Given the description of an element on the screen output the (x, y) to click on. 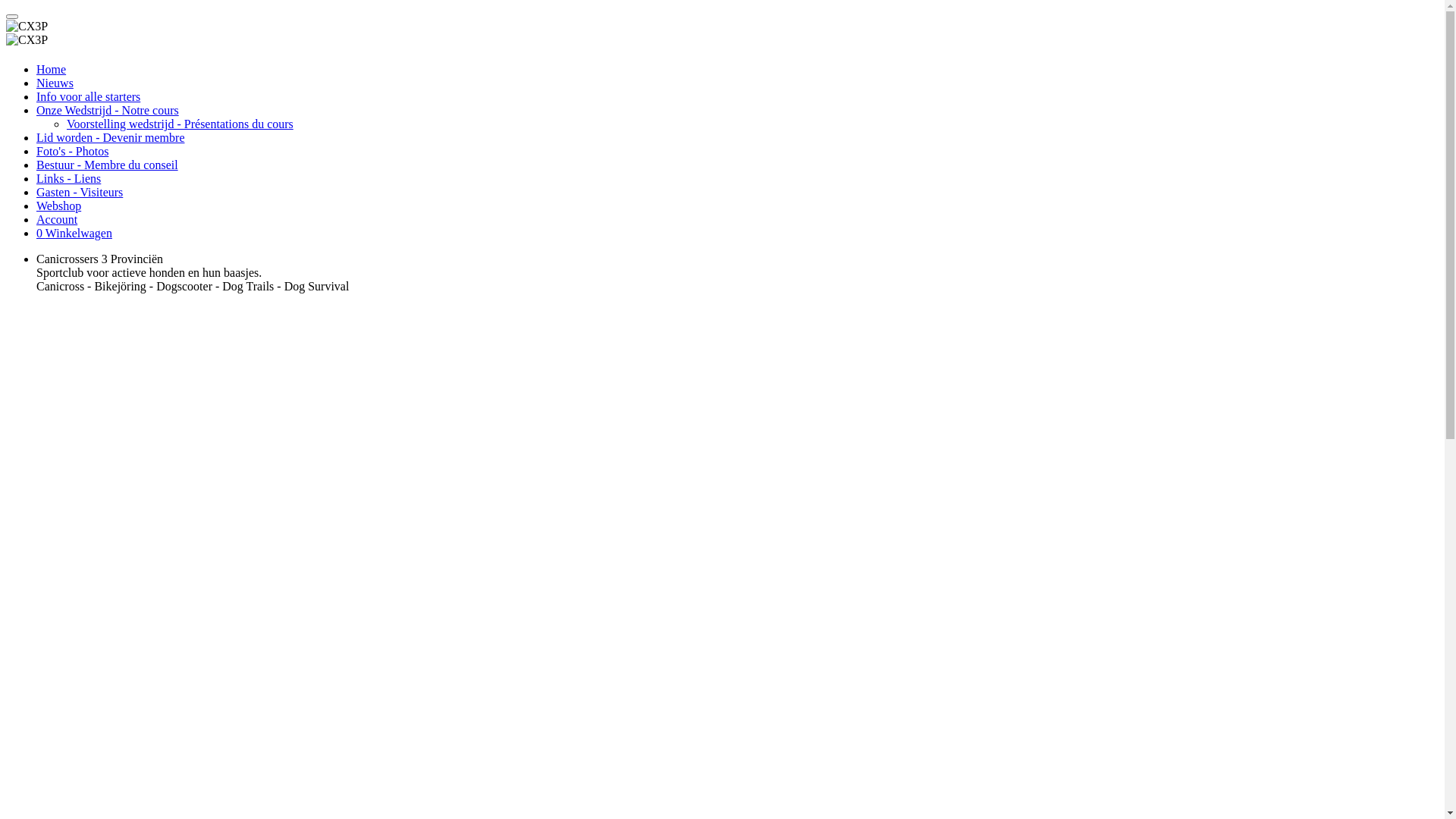
Onze Wedstrijd - Notre cours Element type: text (107, 109)
Foto's - Photos Element type: text (72, 150)
Webshop Element type: text (58, 205)
Account Element type: text (56, 219)
Links - Liens Element type: text (68, 178)
Bestuur - Membre du conseil Element type: text (107, 164)
CX3P Element type: hover (26, 40)
Info voor alle starters Element type: text (88, 96)
Gasten - Visiteurs Element type: text (79, 191)
CX3P Element type: hover (26, 26)
0 Winkelwagen Element type: text (74, 232)
Nieuws Element type: text (54, 82)
Lid worden - Devenir membre Element type: text (110, 137)
Home Element type: text (50, 68)
